Given the description of an element on the screen output the (x, y) to click on. 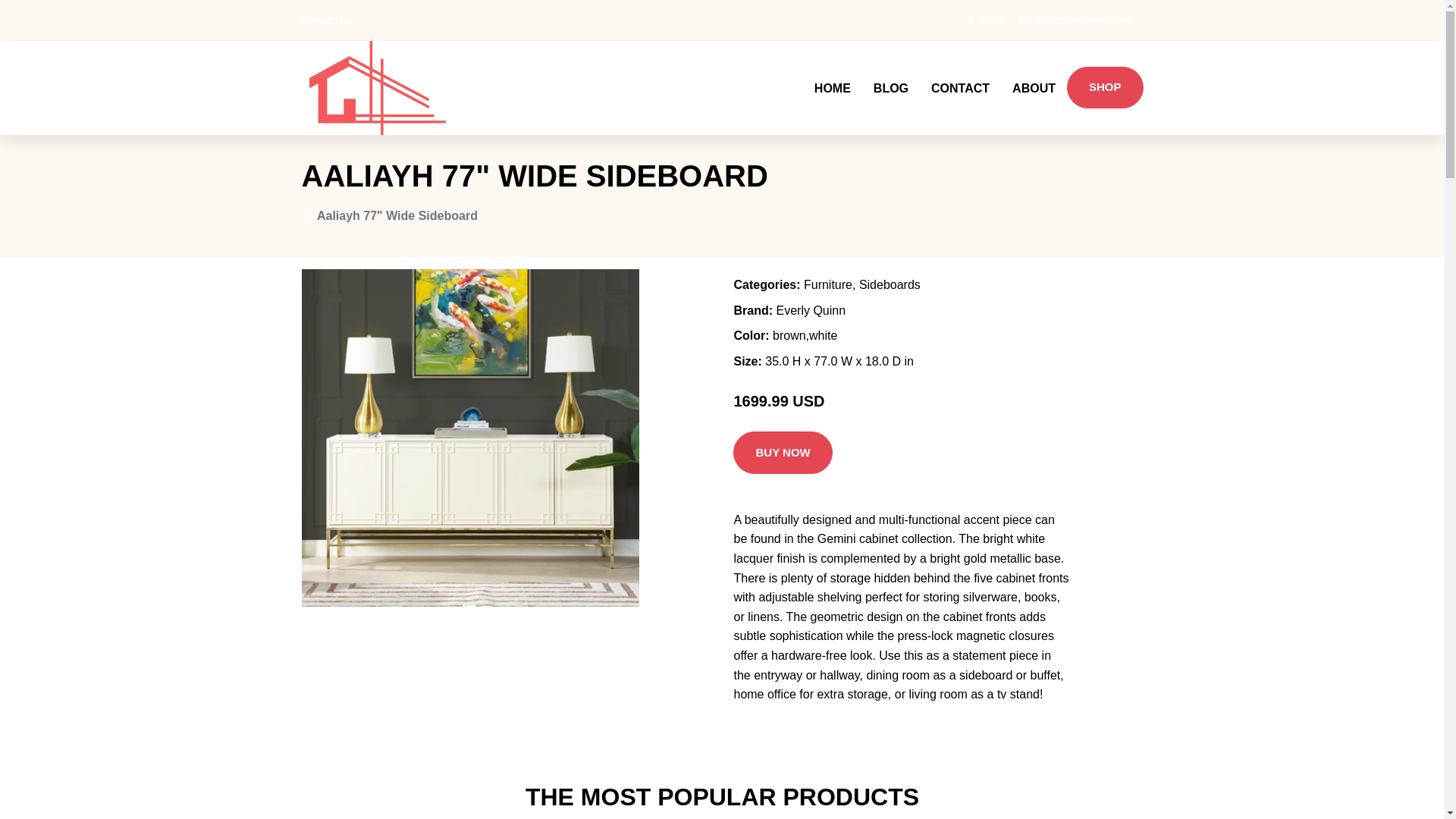
Furniture (827, 284)
ABOUT (1034, 88)
CONTACT (960, 88)
BLOG (890, 88)
Sideboards (889, 284)
HOME (832, 88)
BUY NOW (782, 452)
SHOP (1104, 87)
USA (992, 20)
